Given the description of an element on the screen output the (x, y) to click on. 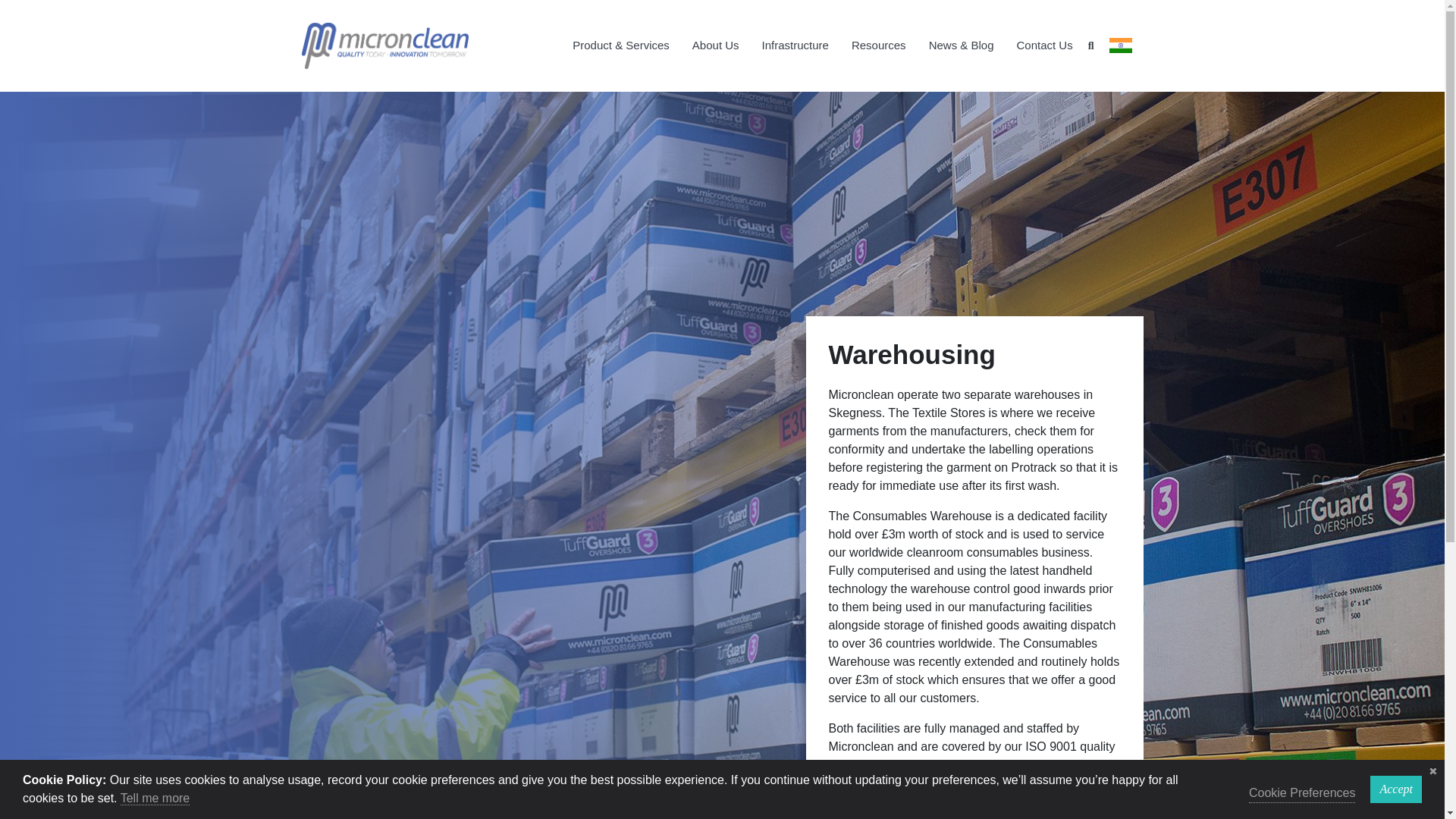
Contact Us (1045, 45)
Infrastructure (795, 45)
INDIA (1119, 45)
Resources (878, 45)
SCROLL TO CONTENT (721, 783)
About Us (716, 45)
SCROLL TO CONTENT (721, 783)
